Given the description of an element on the screen output the (x, y) to click on. 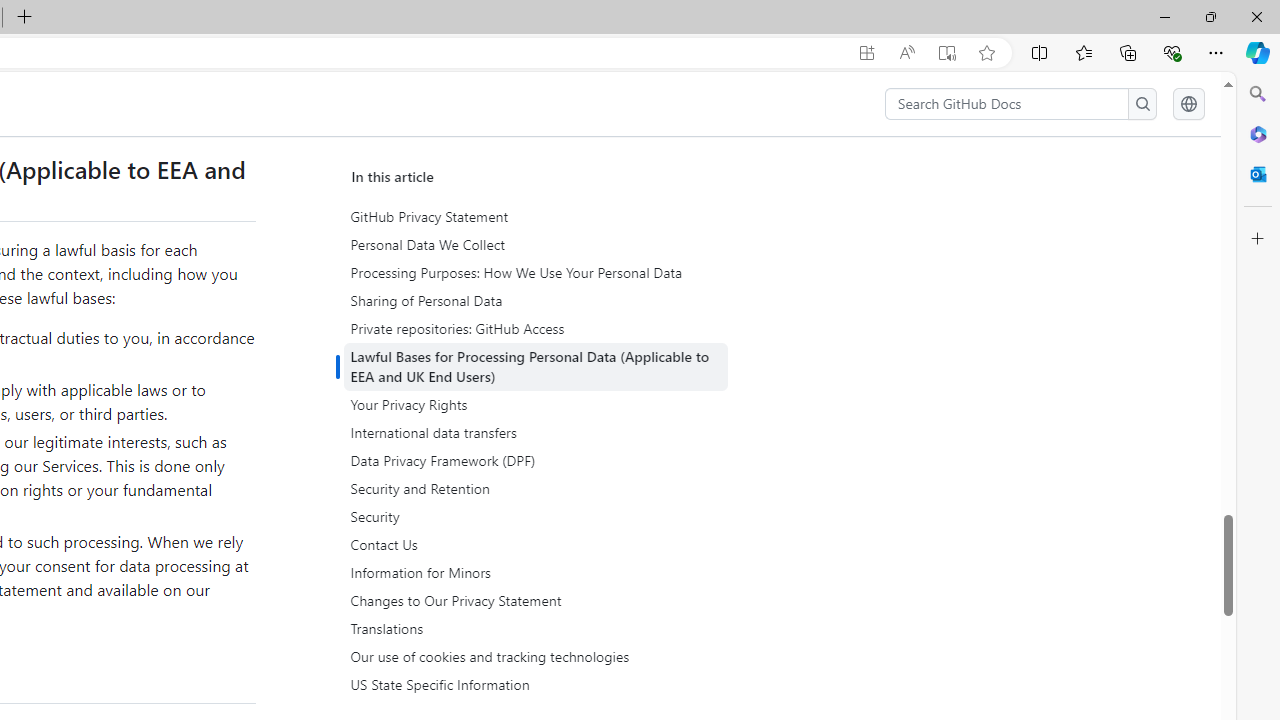
Security and Retention (538, 489)
Translations (535, 628)
App available. Install GitHub Docs (867, 53)
GitHub Privacy Statement (535, 217)
Search GitHub Docs (1006, 103)
Security (535, 517)
Personal Data We Collect (535, 245)
Private repositories: GitHub Access (535, 328)
Select language: current language is English (1188, 103)
